Given the description of an element on the screen output the (x, y) to click on. 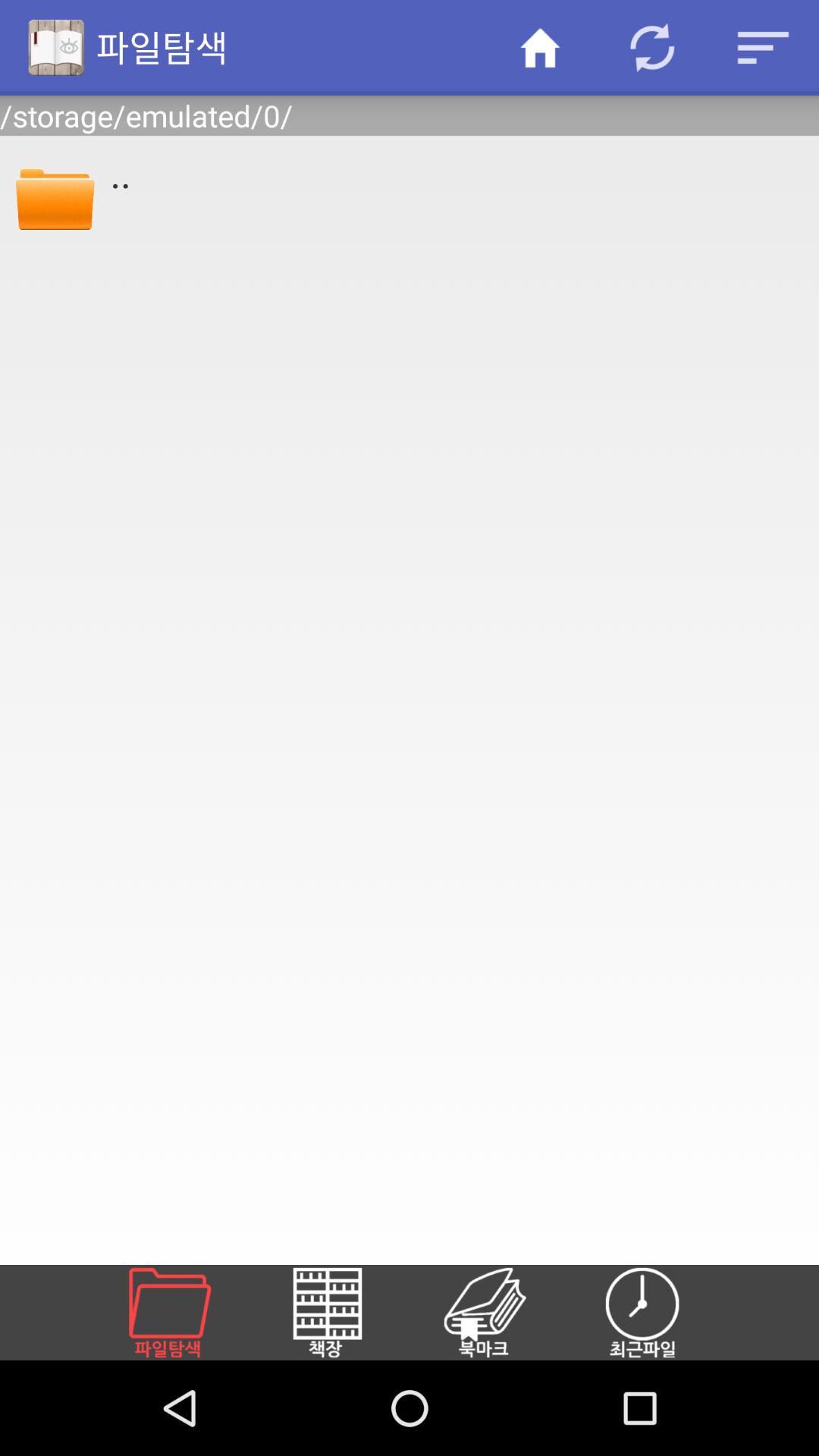
show bookmarks (502, 1312)
